Given the description of an element on the screen output the (x, y) to click on. 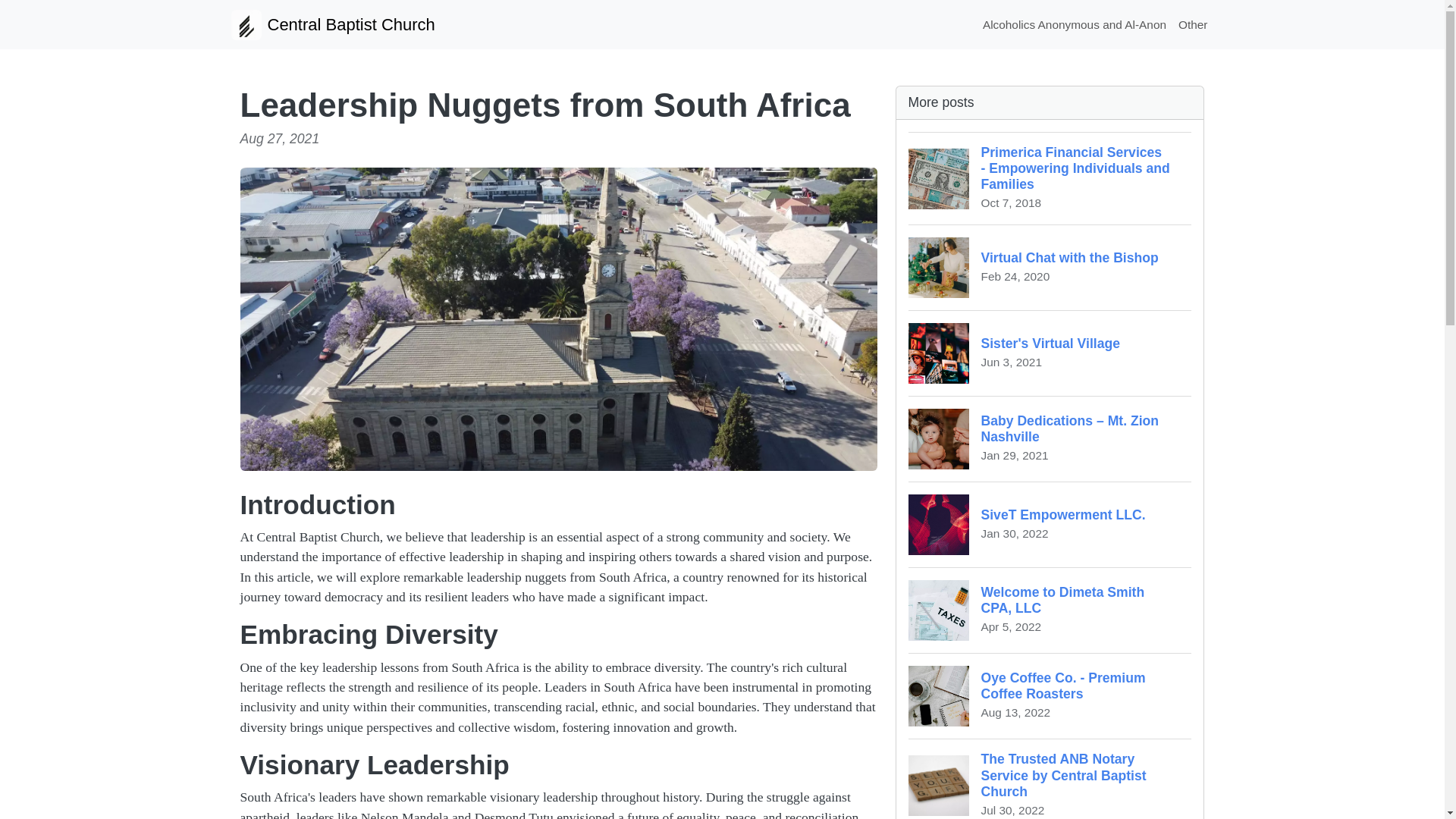
Central Baptist Church (1050, 267)
Alcoholics Anonymous and Al-Anon (1050, 352)
Other (331, 24)
